Given the description of an element on the screen output the (x, y) to click on. 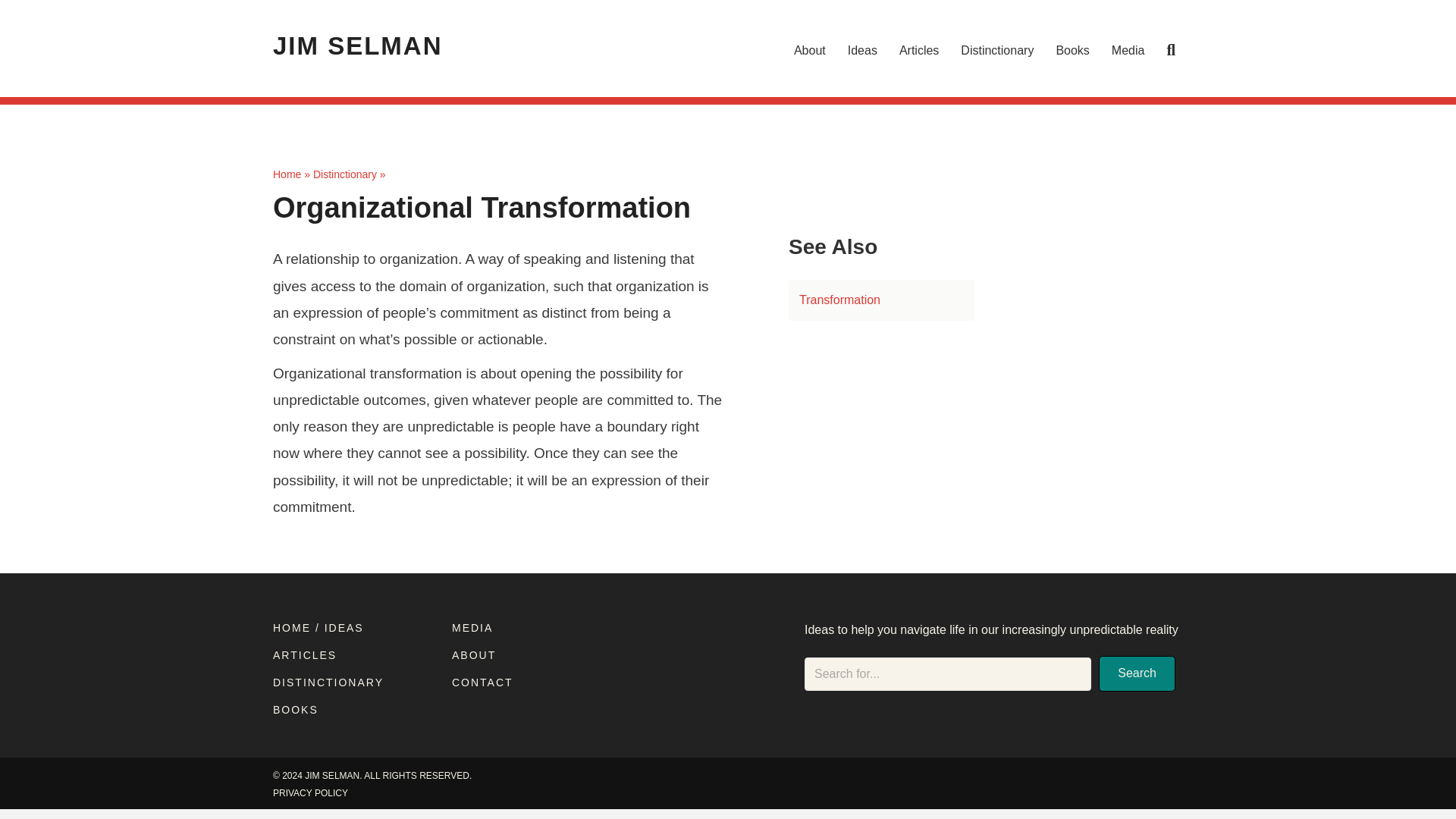
Transformation (881, 300)
Jim Selman (357, 45)
Home (287, 174)
ABOUT (473, 654)
BOOKS (295, 709)
Distinctionary (345, 174)
PRIVACY POLICY (310, 792)
JIM SELMAN (357, 45)
Search (1136, 673)
ARTICLES (304, 654)
CONTACT (482, 682)
Articles (918, 50)
Books (1072, 50)
Media (1128, 50)
MEDIA (472, 627)
